Given the description of an element on the screen output the (x, y) to click on. 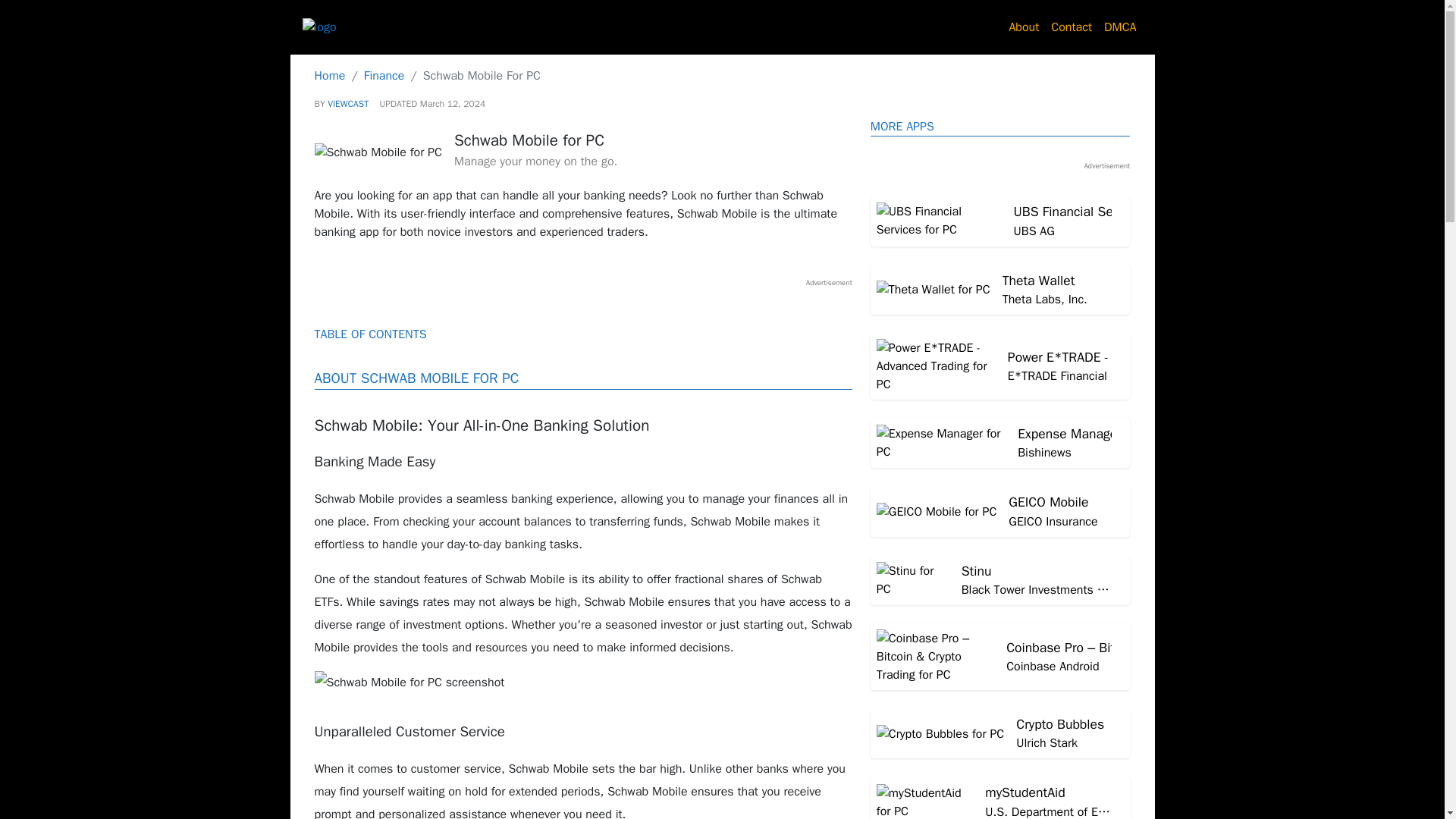
UBS Financial Services for PC (1000, 220)
myStudentAid for PC (1000, 797)
About (1000, 733)
Expense Manager for PC (1024, 27)
Finance (1000, 442)
Crypto Bubbles for PC (1000, 442)
Stinu for PC (1000, 580)
